Given the description of an element on the screen output the (x, y) to click on. 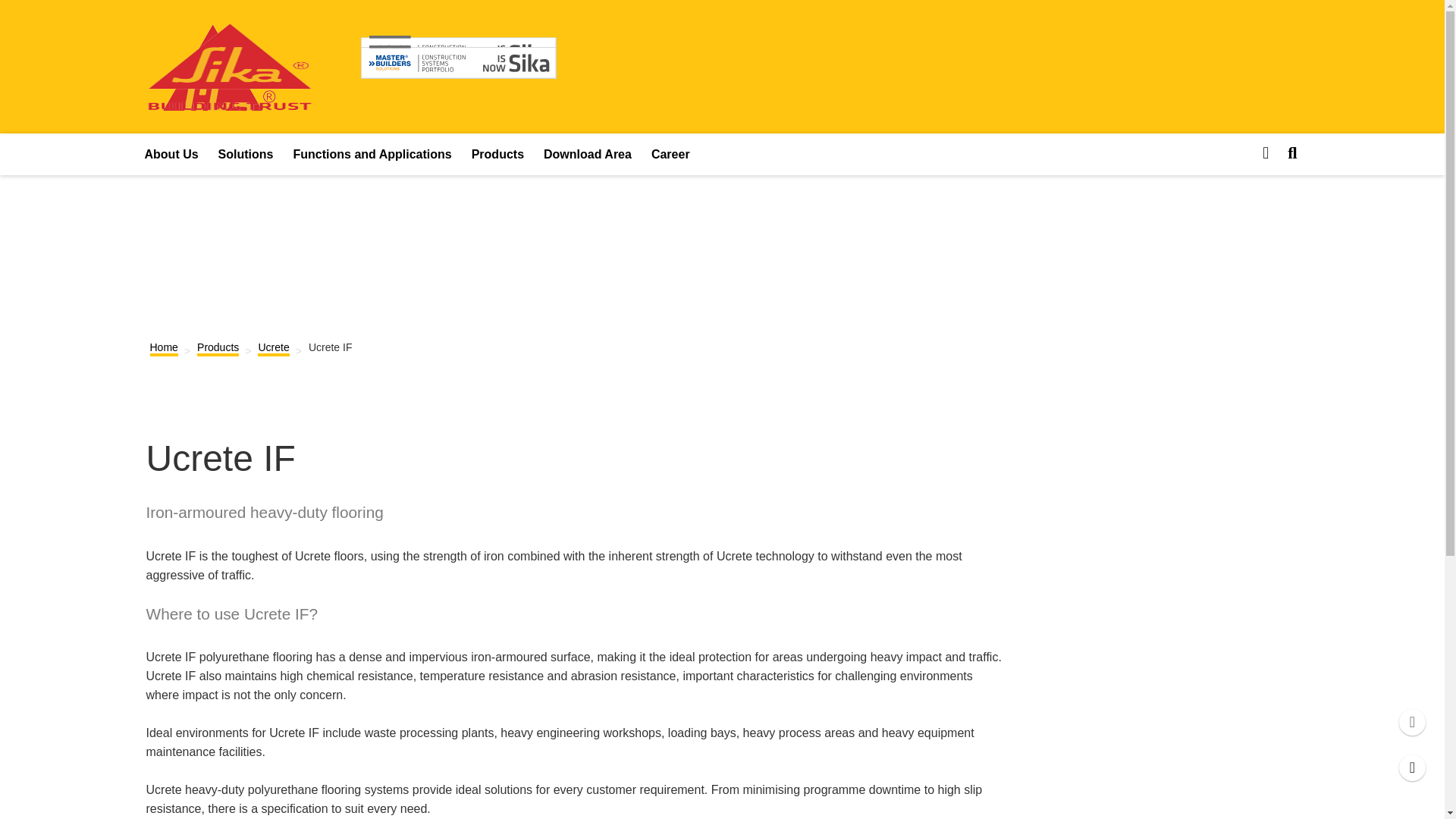
United Kingdom and Ireland (458, 54)
About Us (171, 154)
United Kingdom and Ireland (229, 101)
Solutions (245, 154)
Contact (1412, 767)
